Given the description of an element on the screen output the (x, y) to click on. 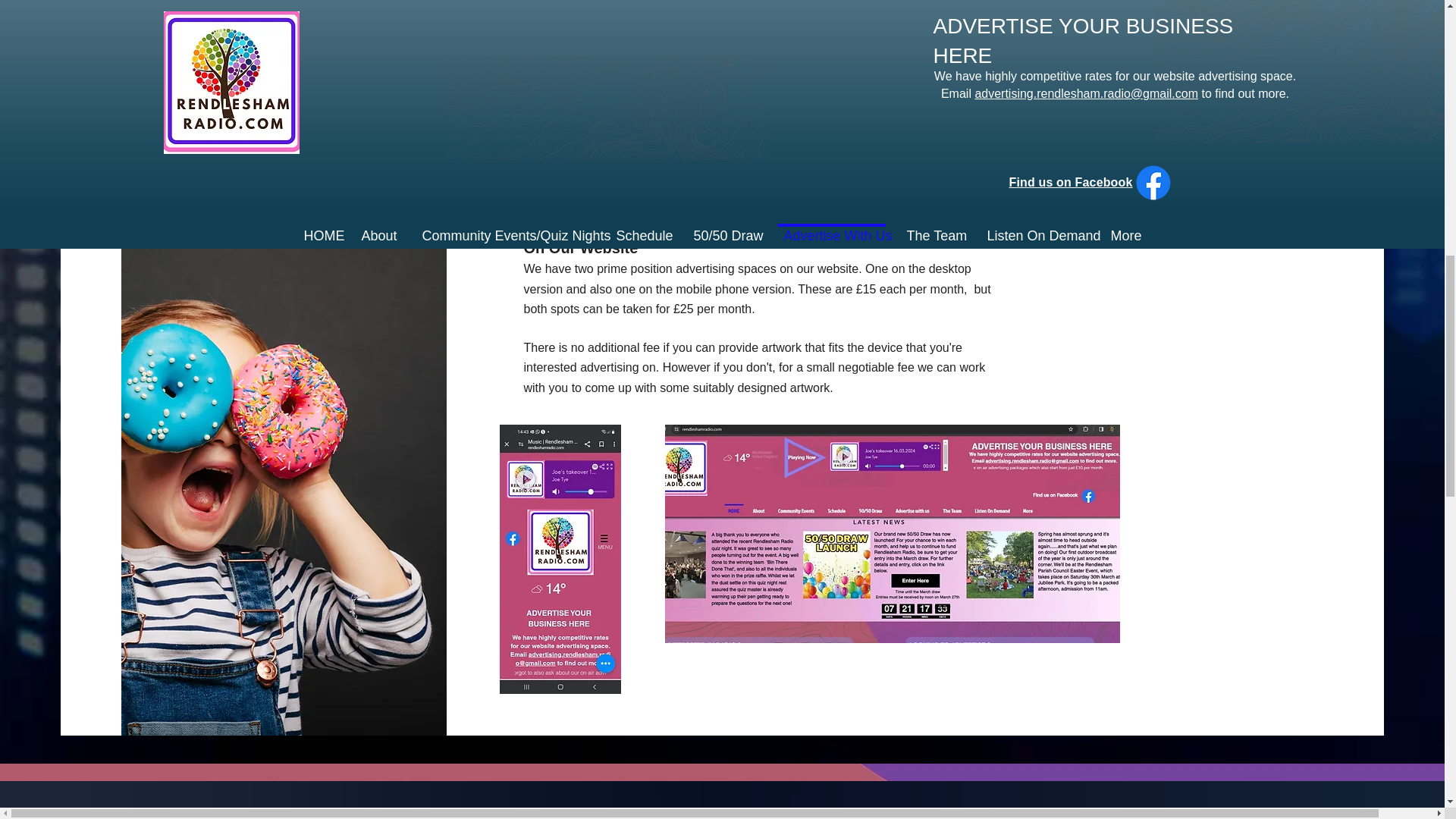
desktop.JPG (891, 533)
